Given the description of an element on the screen output the (x, y) to click on. 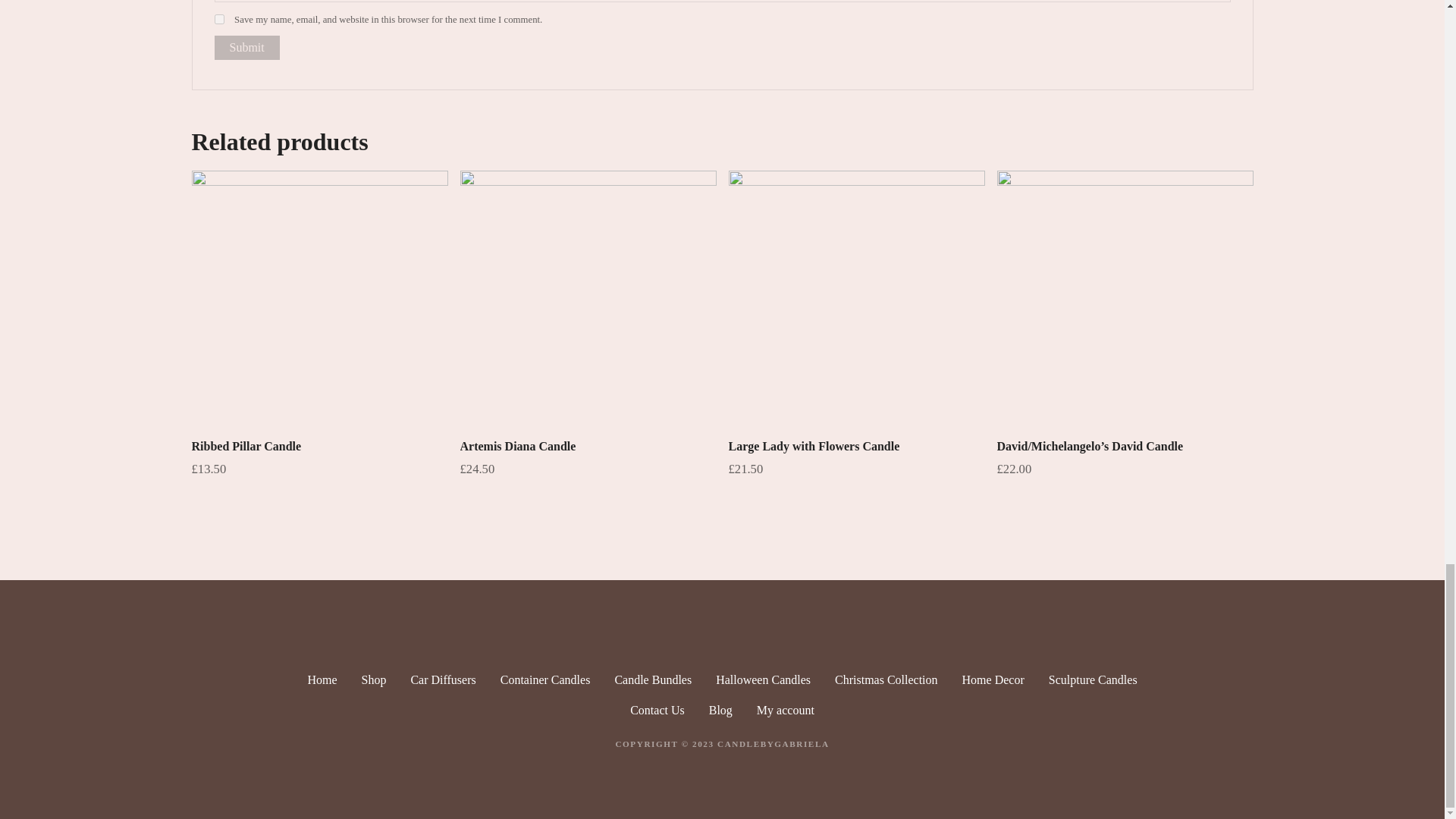
Shop (373, 679)
Home (321, 679)
Submit (246, 48)
yes (219, 19)
Submit (246, 48)
